Given the description of an element on the screen output the (x, y) to click on. 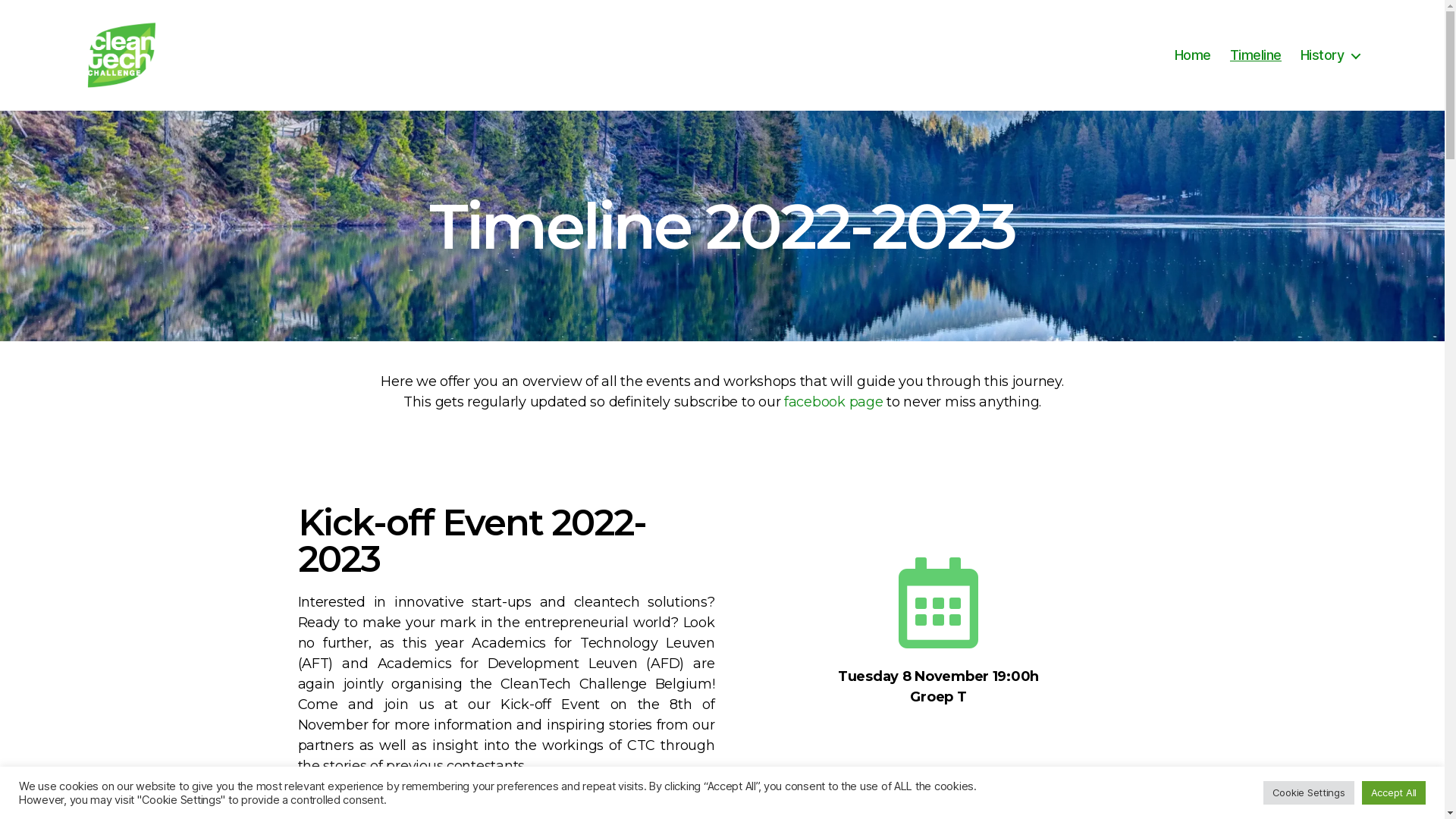
facebook Element type: text (814, 401)
Accept All Element type: text (1393, 792)
Timeline Element type: text (1255, 55)
page Element type: text (864, 401)
History Element type: text (1329, 55)
Cookie Settings Element type: text (1308, 792)
Home Element type: text (1192, 55)
